Given the description of an element on the screen output the (x, y) to click on. 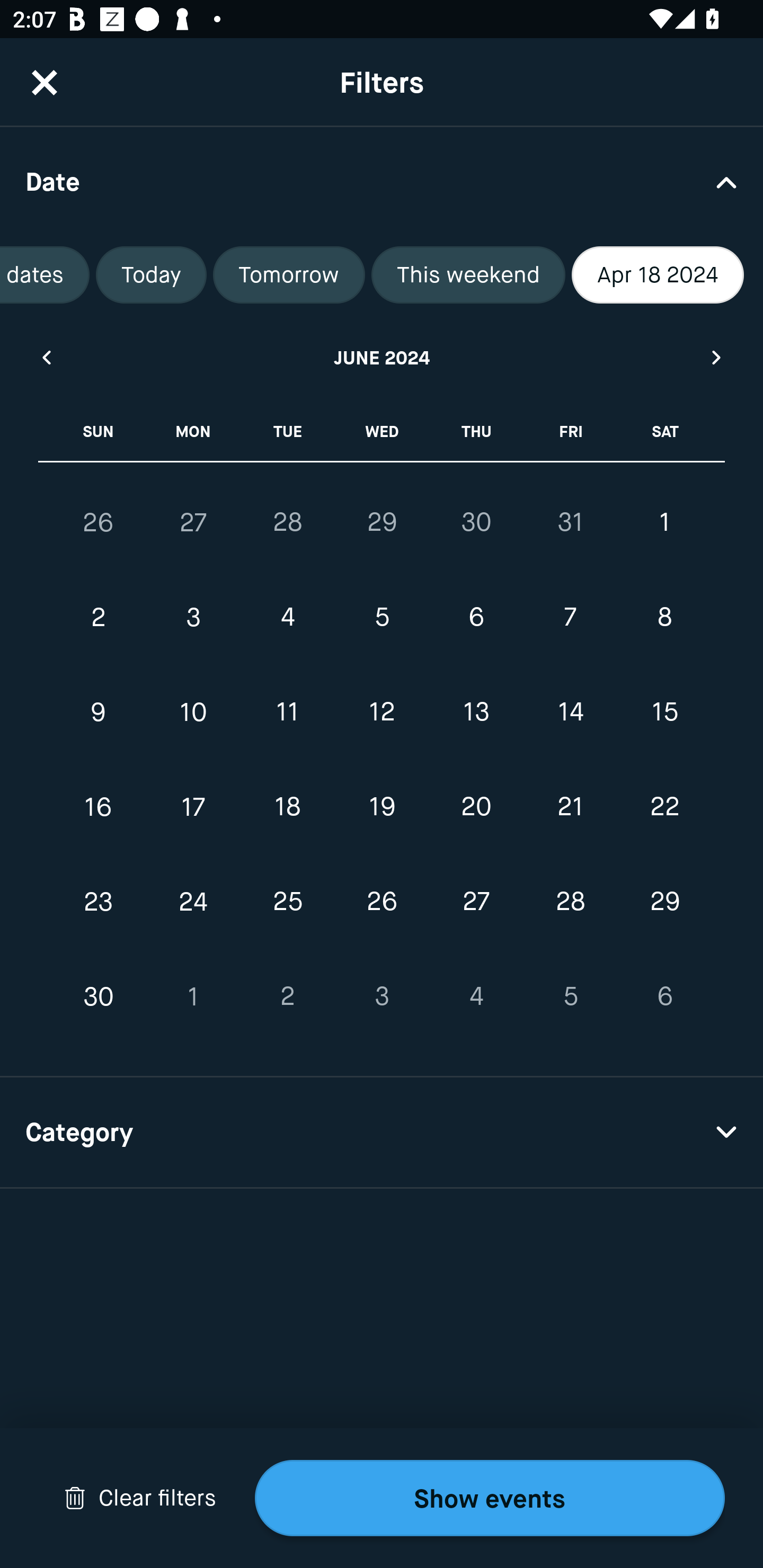
CloseButton (44, 82)
Date Drop Down Arrow (381, 181)
Today (151, 274)
Tomorrow (288, 274)
This weekend (468, 274)
Apr 18 2024 (657, 274)
Previous (45, 357)
Next (717, 357)
26 (98, 522)
27 (192, 522)
28 (287, 522)
29 (381, 522)
30 (475, 522)
31 (570, 522)
1 (664, 522)
2 (98, 617)
3 (192, 617)
4 (287, 617)
5 (381, 617)
6 (475, 617)
7 (570, 617)
8 (664, 617)
9 (98, 711)
10 (192, 711)
11 (287, 711)
12 (381, 711)
13 (475, 711)
14 (570, 711)
15 (664, 711)
16 (98, 806)
17 (192, 806)
18 (287, 806)
19 (381, 806)
20 (475, 806)
21 (570, 806)
22 (664, 806)
23 (98, 901)
24 (192, 901)
25 (287, 901)
26 (381, 901)
27 (475, 901)
28 (570, 901)
29 (664, 901)
30 (98, 996)
1 (192, 996)
2 (287, 996)
3 (381, 996)
4 (475, 996)
5 (570, 996)
6 (664, 996)
Category Drop Down Arrow (381, 1132)
Drop Down Arrow Clear filters (139, 1497)
Show events (489, 1497)
